Given the description of an element on the screen output the (x, y) to click on. 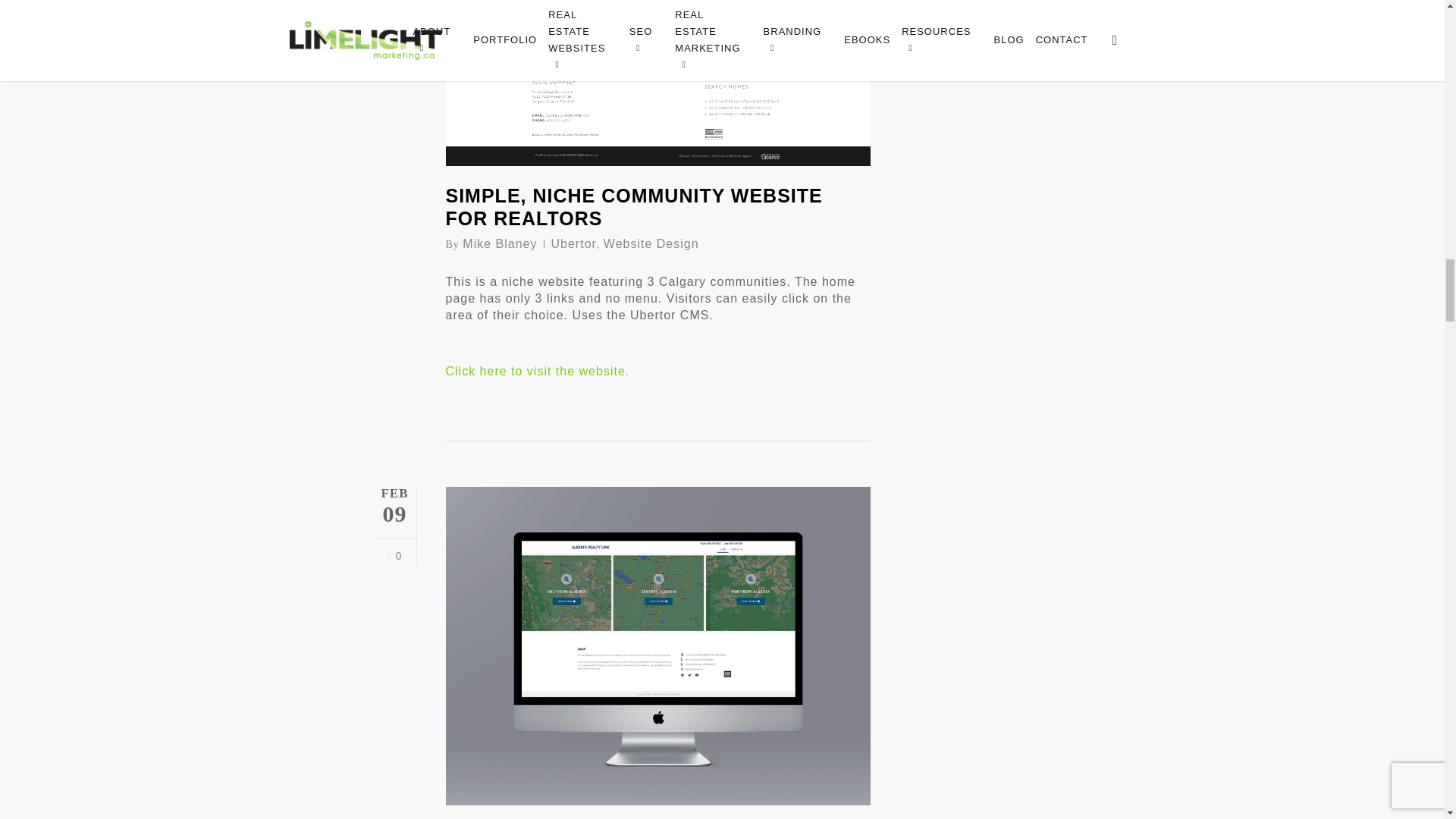
Love this (395, 555)
Posts by Mike Blaney (500, 243)
